Given the description of an element on the screen output the (x, y) to click on. 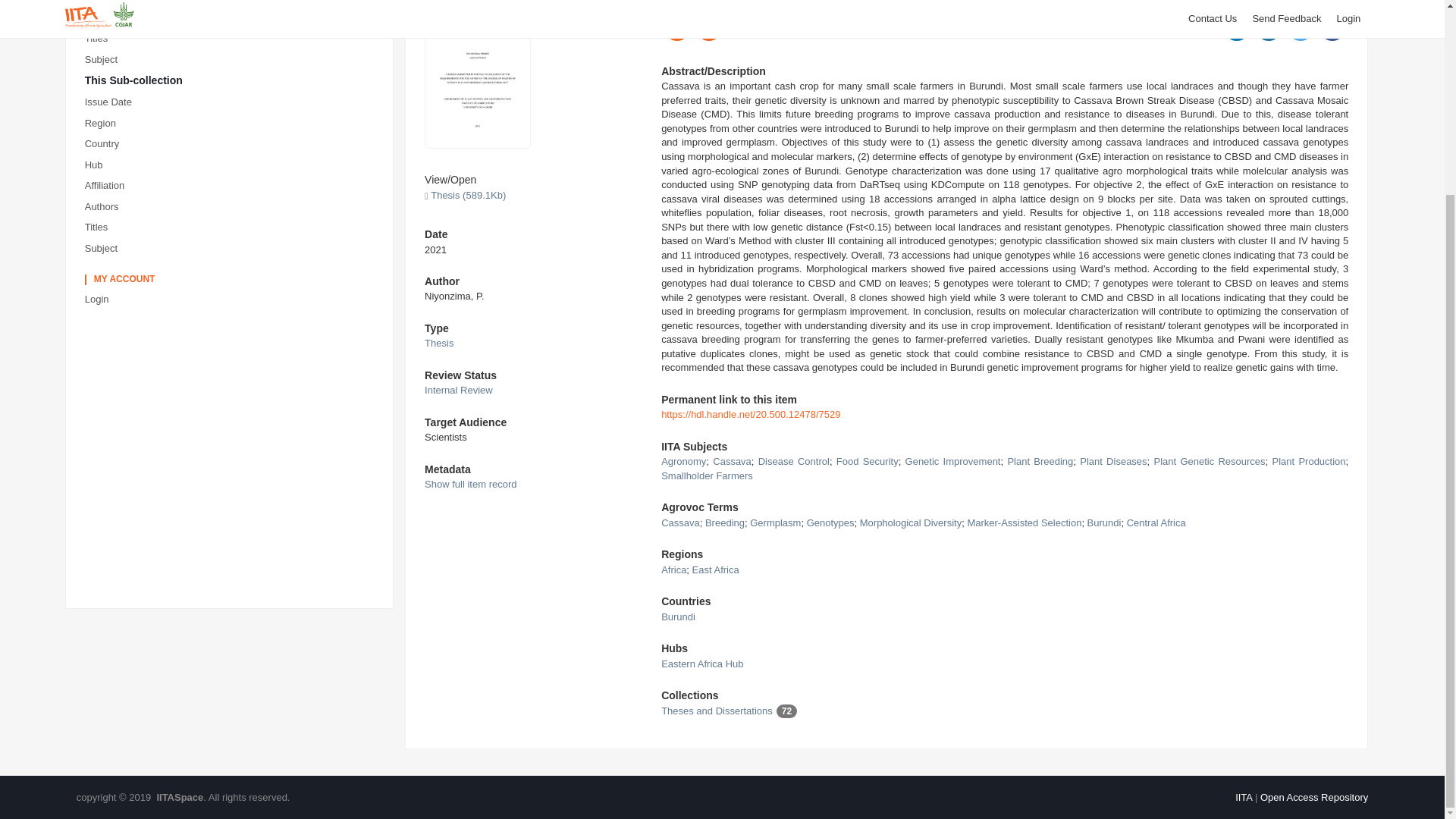
This Sub-collection (232, 81)
Subject (232, 60)
Authors (232, 207)
Share on LinkedIn (1236, 27)
Internal Review (459, 389)
Titles (232, 38)
Authors (232, 18)
Region (232, 124)
Show full item record (470, 483)
Subject (232, 249)
